Given the description of an element on the screen output the (x, y) to click on. 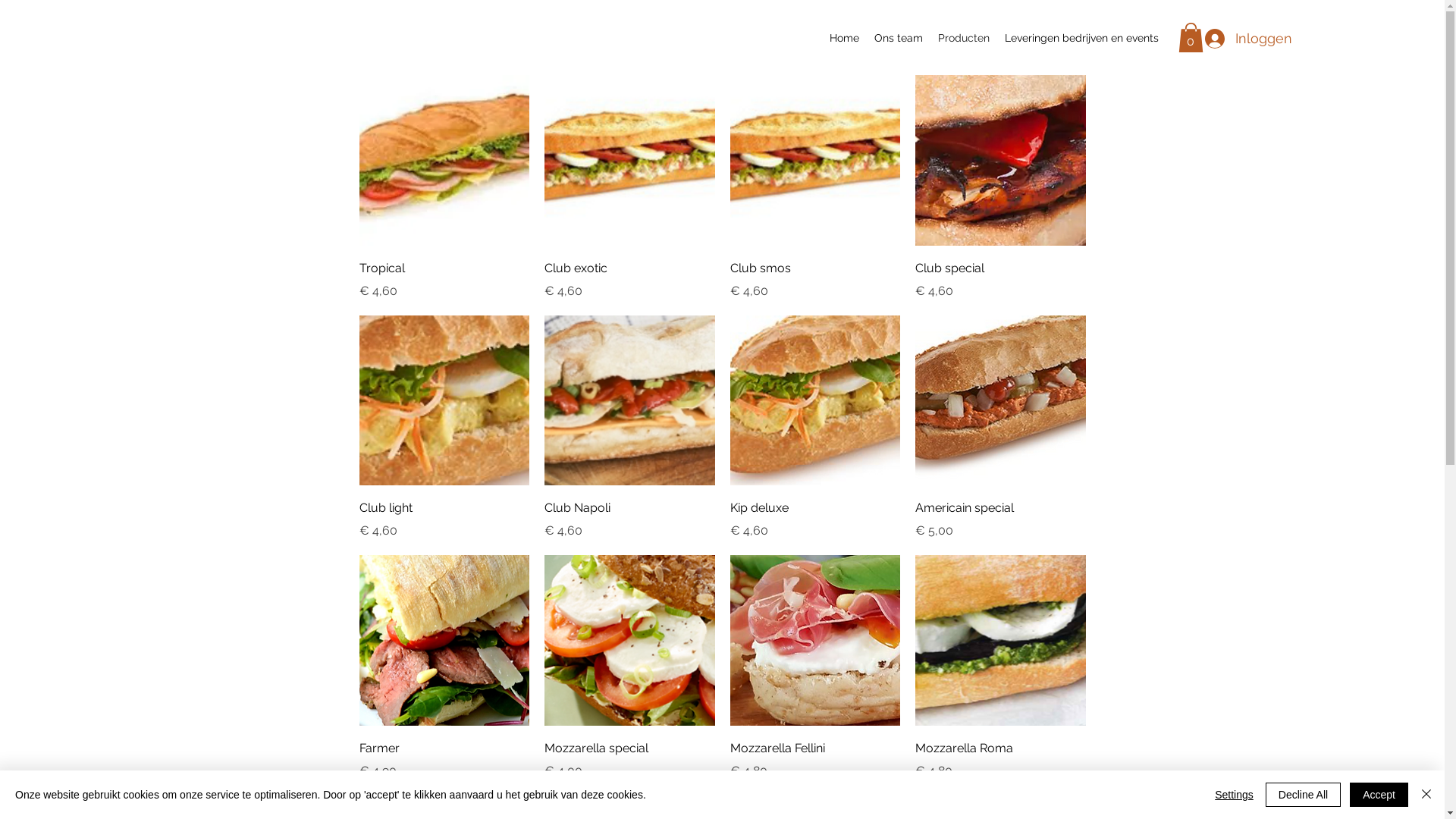
Home Element type: text (844, 37)
Ons team Element type: text (898, 37)
Producten Element type: text (963, 37)
Leveringen bedrijven en events Element type: text (1081, 37)
Inloggen Element type: text (1239, 38)
Accept Element type: text (1378, 794)
Decline All Element type: text (1302, 794)
0 Element type: text (1190, 37)
